Given the description of an element on the screen output the (x, y) to click on. 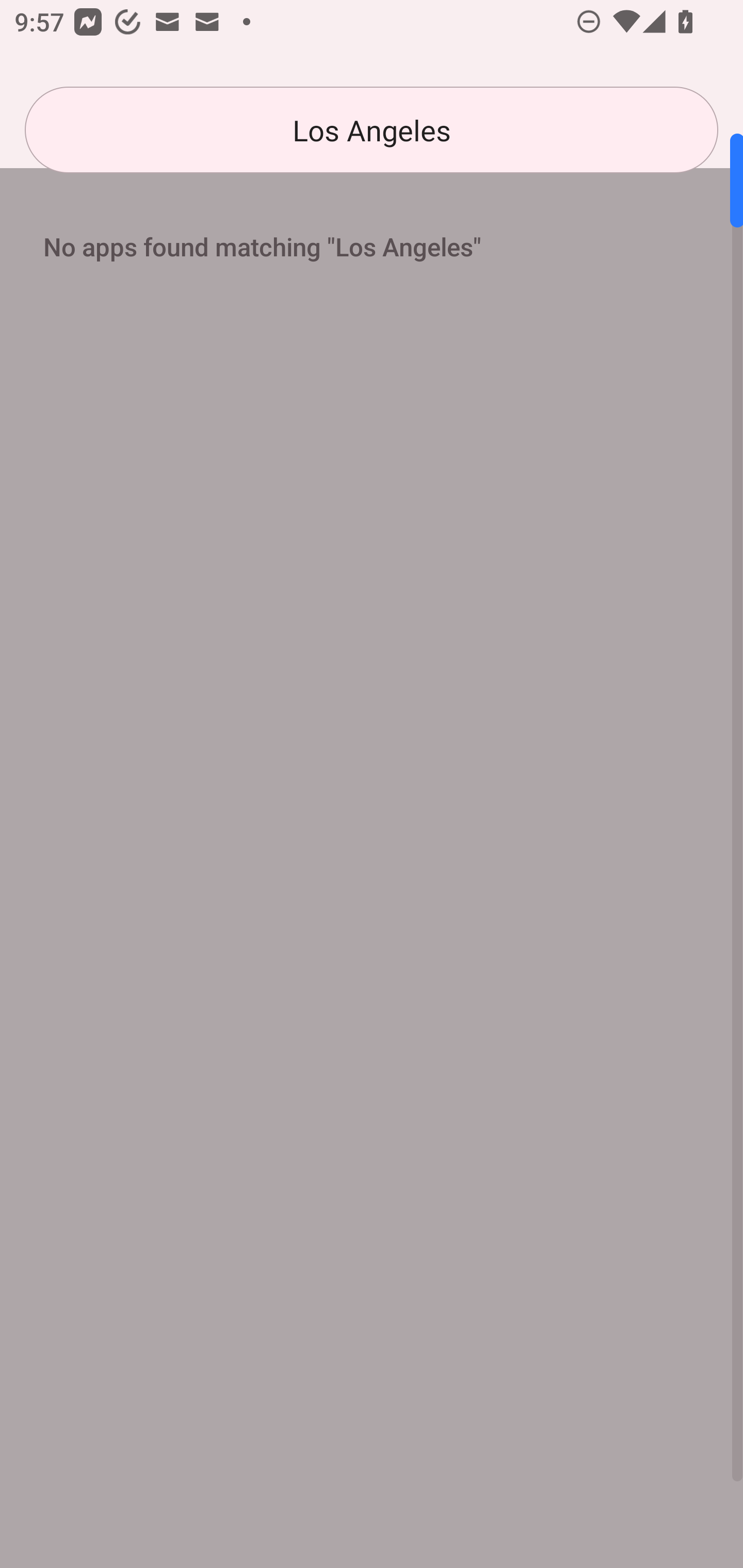
Los Angeles (371, 130)
